Given the description of an element on the screen output the (x, y) to click on. 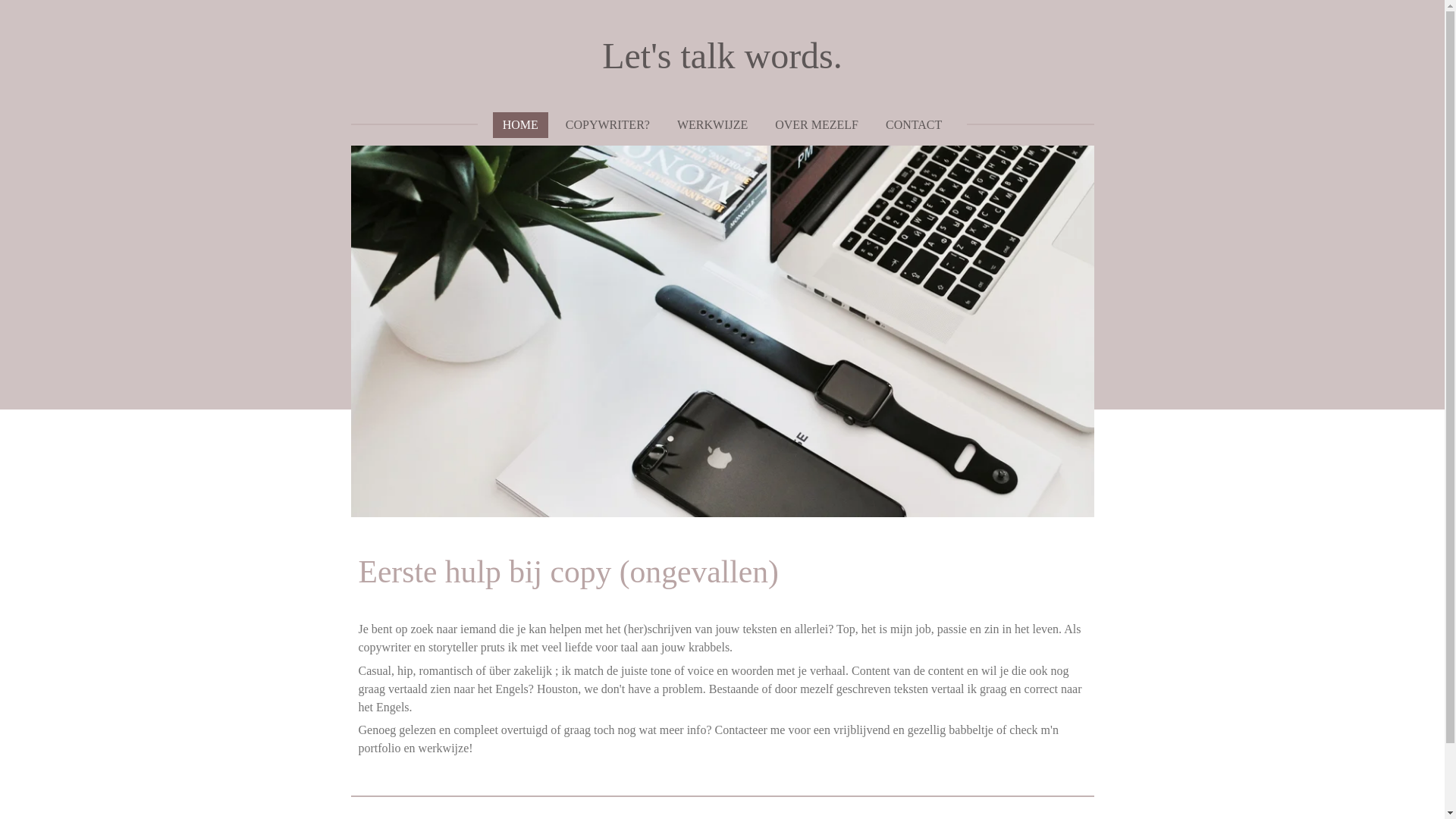
COPYWRITER? Element type: text (607, 125)
WERKWIJZE Element type: text (712, 125)
OVER MEZELF Element type: text (816, 125)
HOME Element type: text (520, 125)
CONTACT Element type: text (913, 125)
